Given the description of an element on the screen output the (x, y) to click on. 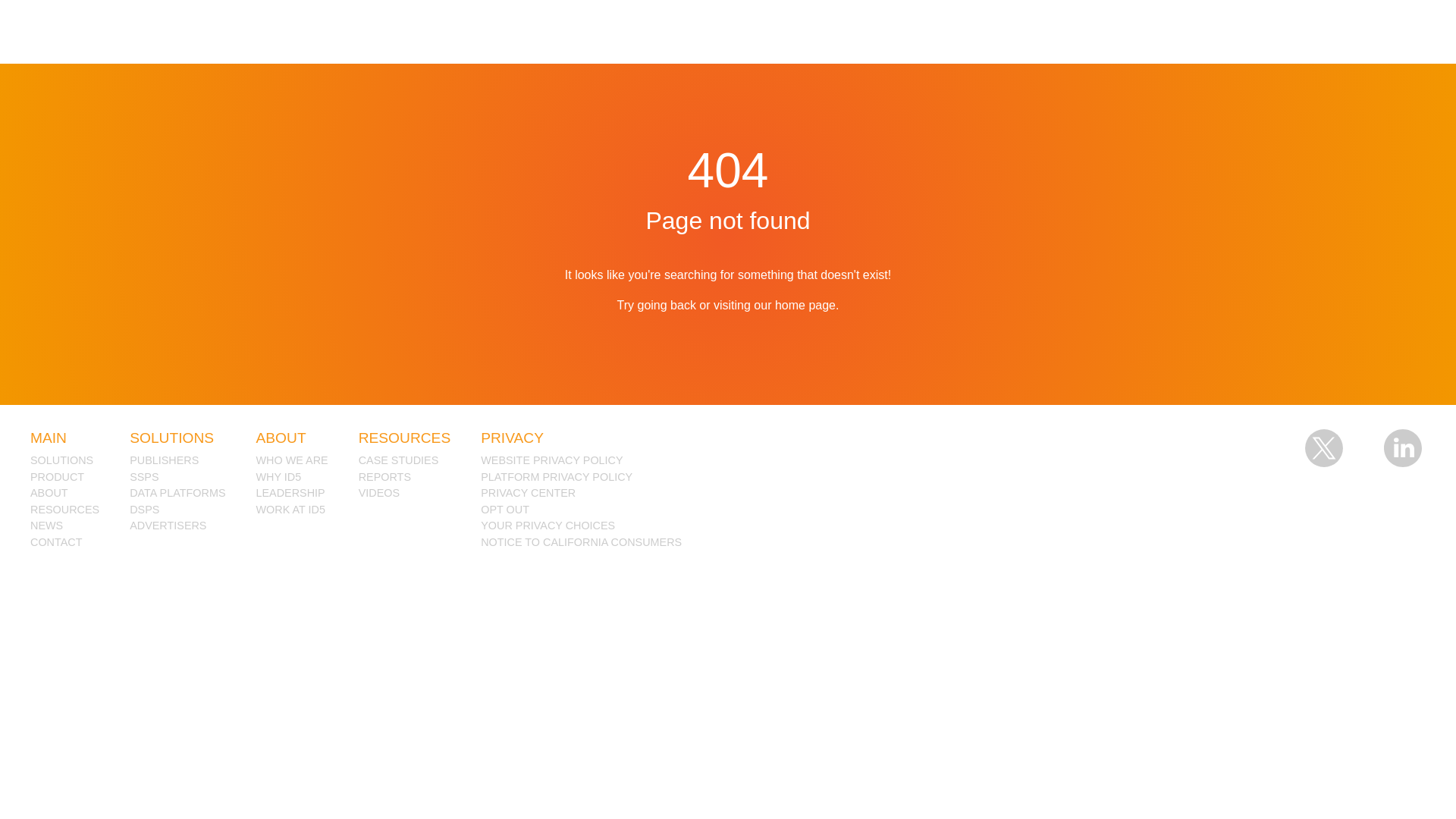
going back (666, 305)
WORK AT ID5 (292, 510)
WEBSITE PRIVACY POLICY (580, 460)
PUBLISHERS (177, 460)
LEADERSHIP (292, 493)
WHY ID5 (292, 477)
YOUR PRIVACY CHOICES (580, 525)
CONTACT (64, 542)
home page (804, 305)
ABOUT (64, 493)
